Given the description of an element on the screen output the (x, y) to click on. 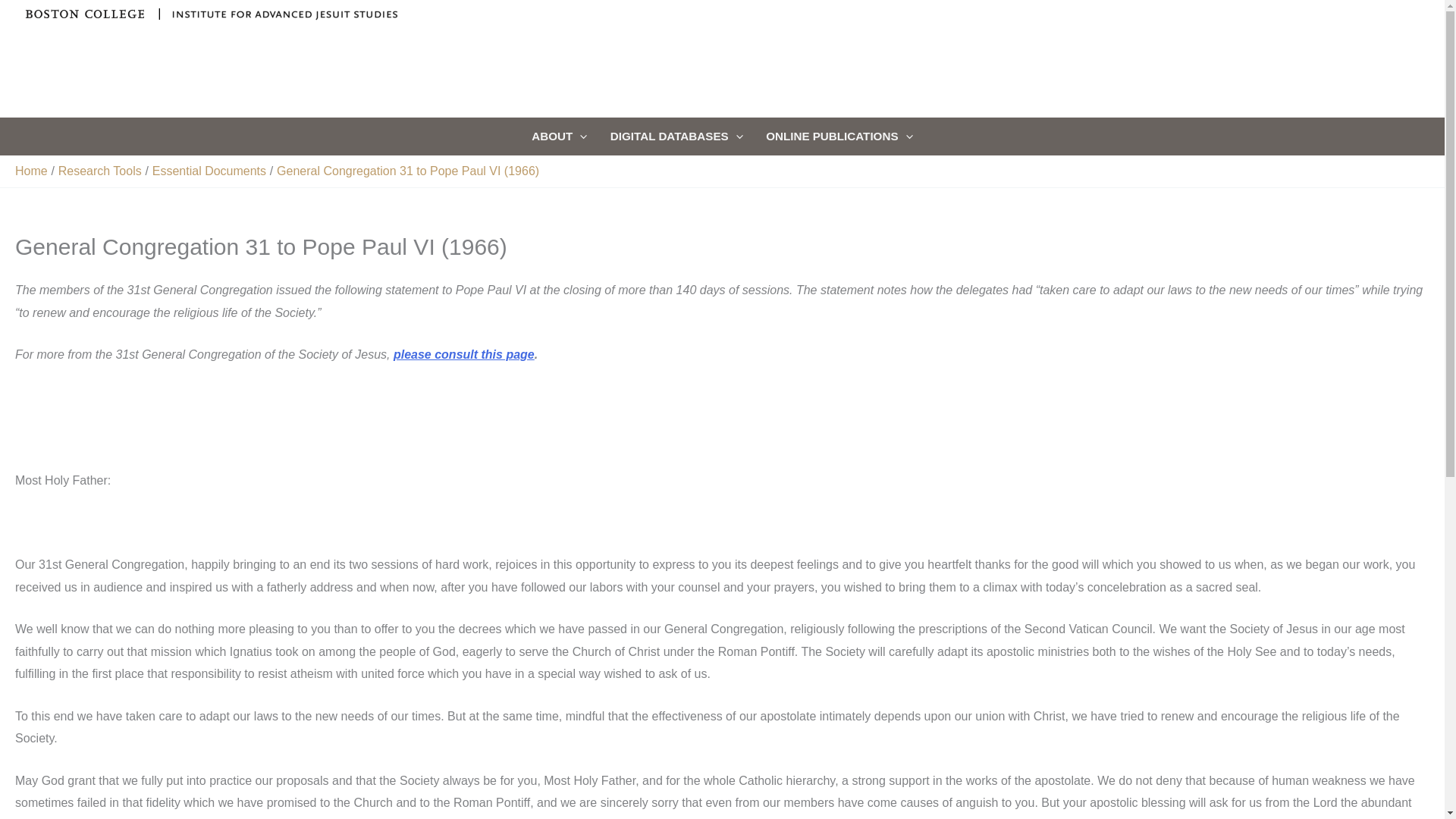
ONLINE PUBLICATIONS (839, 136)
ABOUT (558, 136)
DIGITAL DATABASES (676, 136)
